Given the description of an element on the screen output the (x, y) to click on. 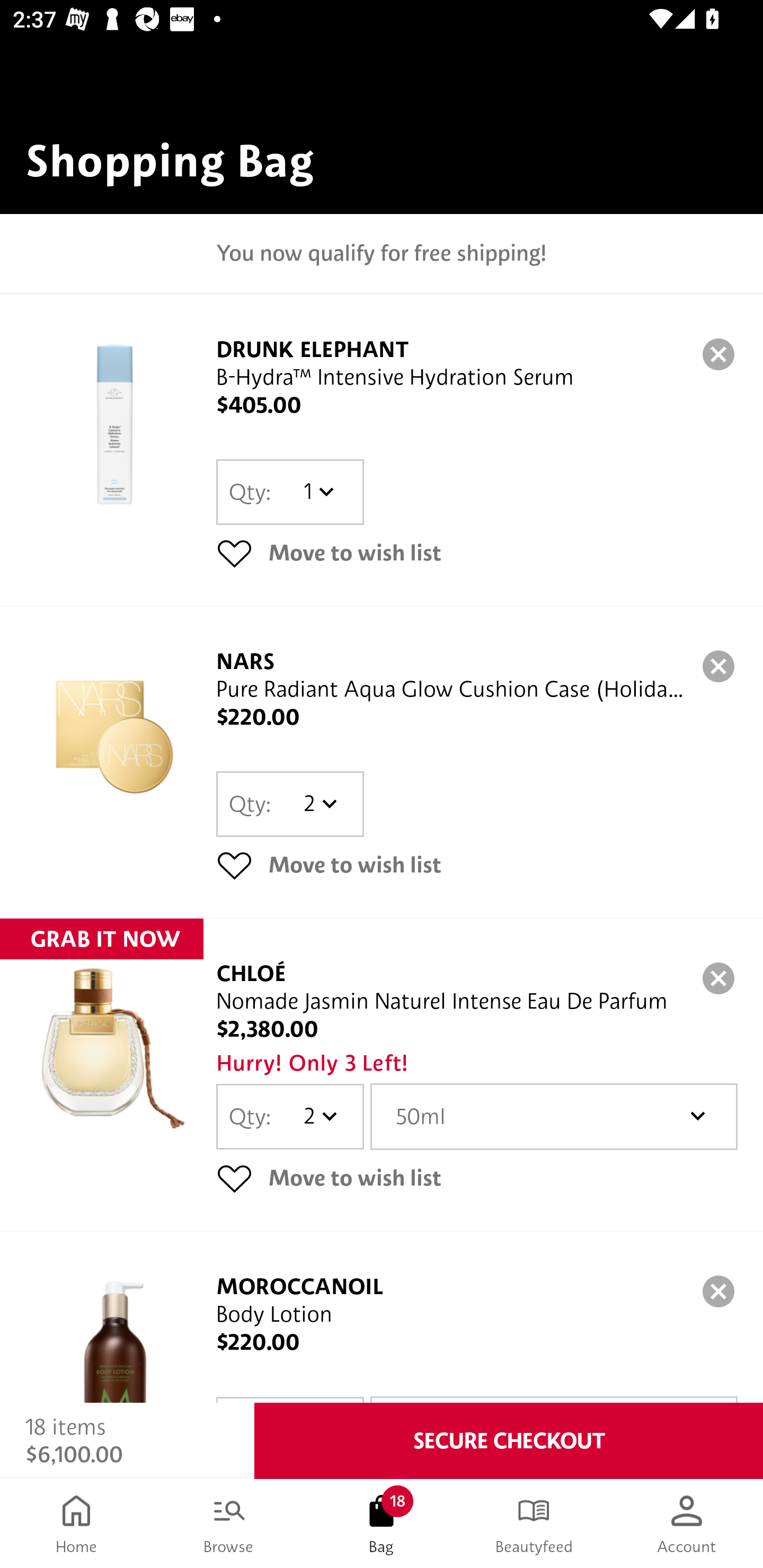
1 (317, 492)
Move to wish list (476, 552)
2 (317, 804)
Move to wish list (476, 864)
50ml (553, 1116)
2 (317, 1116)
Move to wish list (476, 1177)
MOROCCANOIL Body Lotion $220.00 (381, 1316)
SECURE CHECKOUT (508, 1440)
Home (76, 1523)
Browse (228, 1523)
Beautyfeed (533, 1523)
Account (686, 1523)
